Given the description of an element on the screen output the (x, y) to click on. 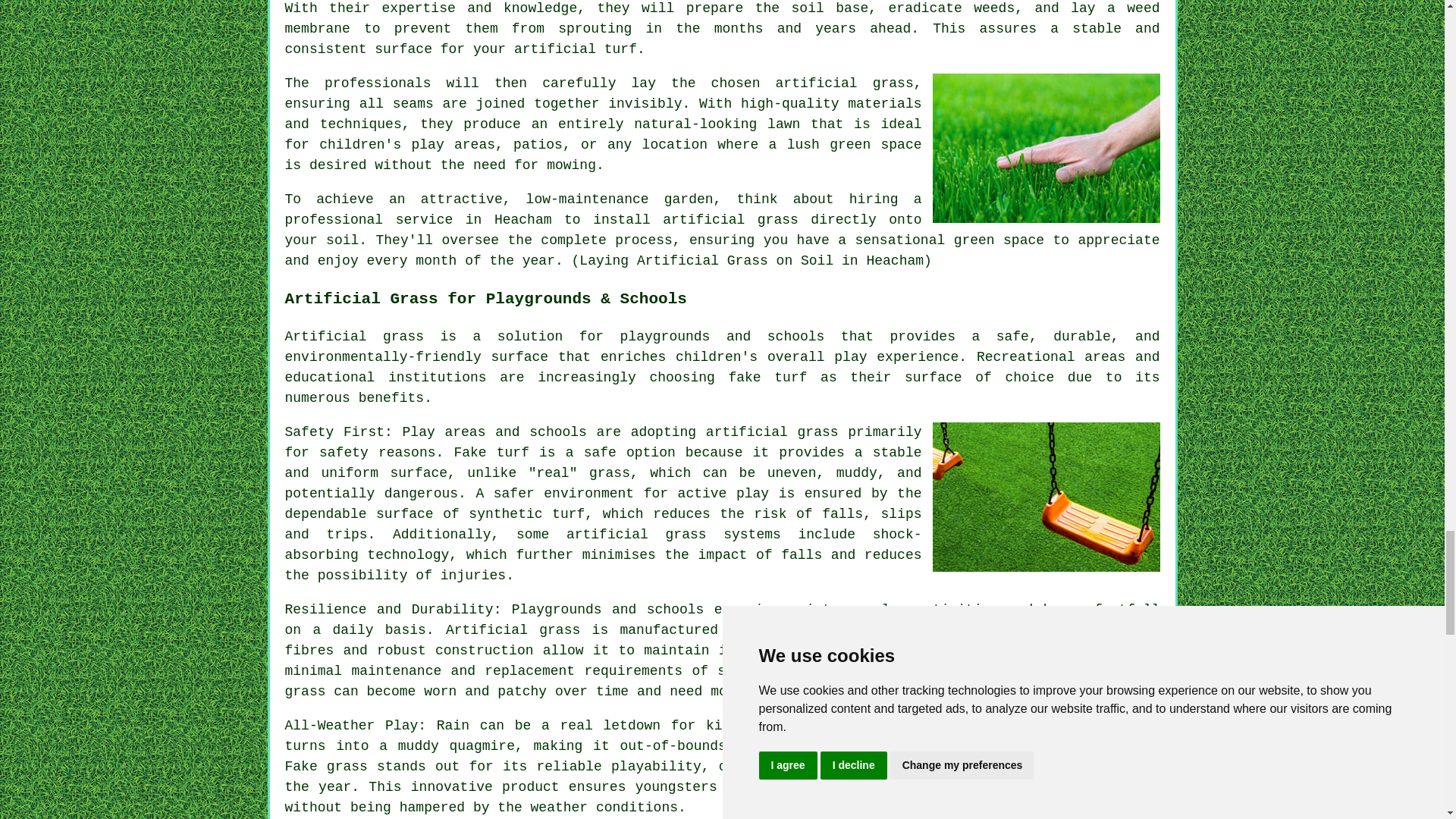
Artificial Grass for Schools and Playgrounds in Heacham (1046, 496)
artificial grass (729, 219)
Laying Artifical Grass on Soil in Heacham (1046, 147)
Artificial grass (512, 630)
